Given the description of an element on the screen output the (x, y) to click on. 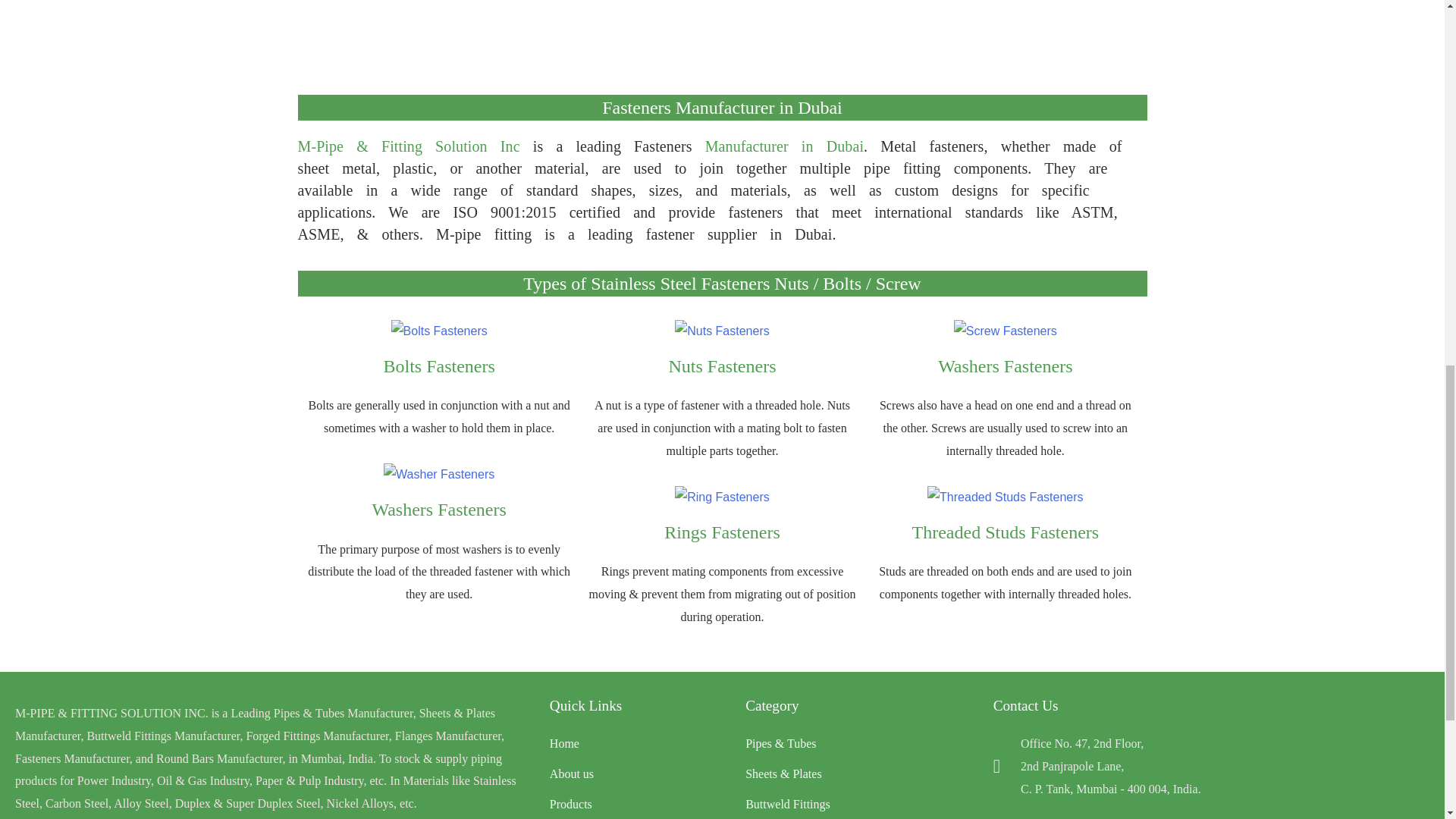
Rings Fasteners (721, 532)
Bolts Fasteners (439, 365)
Fasteners Manufacturer in Dubai (722, 107)
Washers Fasteners (438, 509)
Washers Fasteners (1004, 365)
Manufacturer in Dubai (783, 146)
Nuts Fasteners (722, 365)
